Given the description of an element on the screen output the (x, y) to click on. 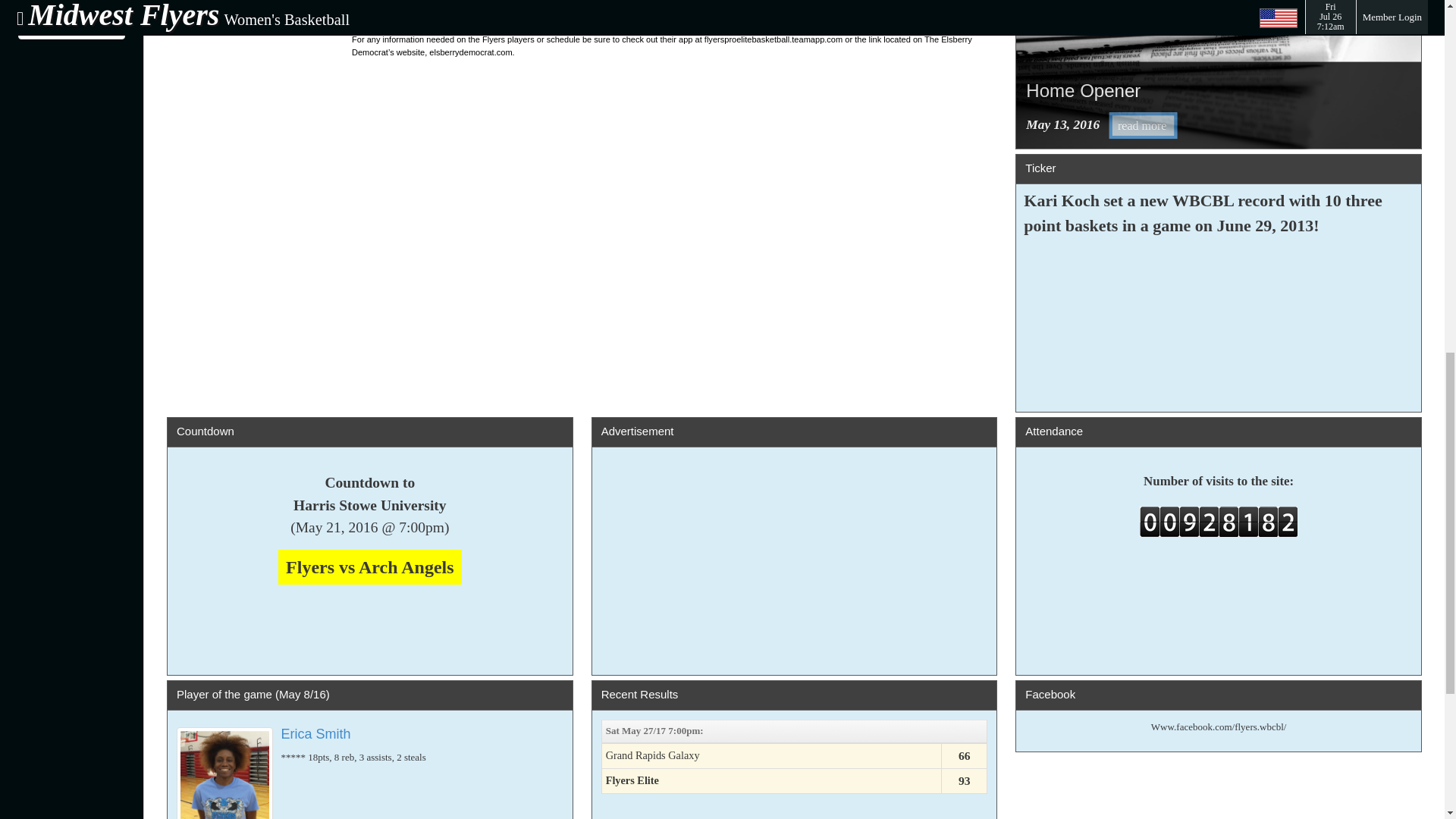
Free Team Websites (71, 17)
